Given the description of an element on the screen output the (x, y) to click on. 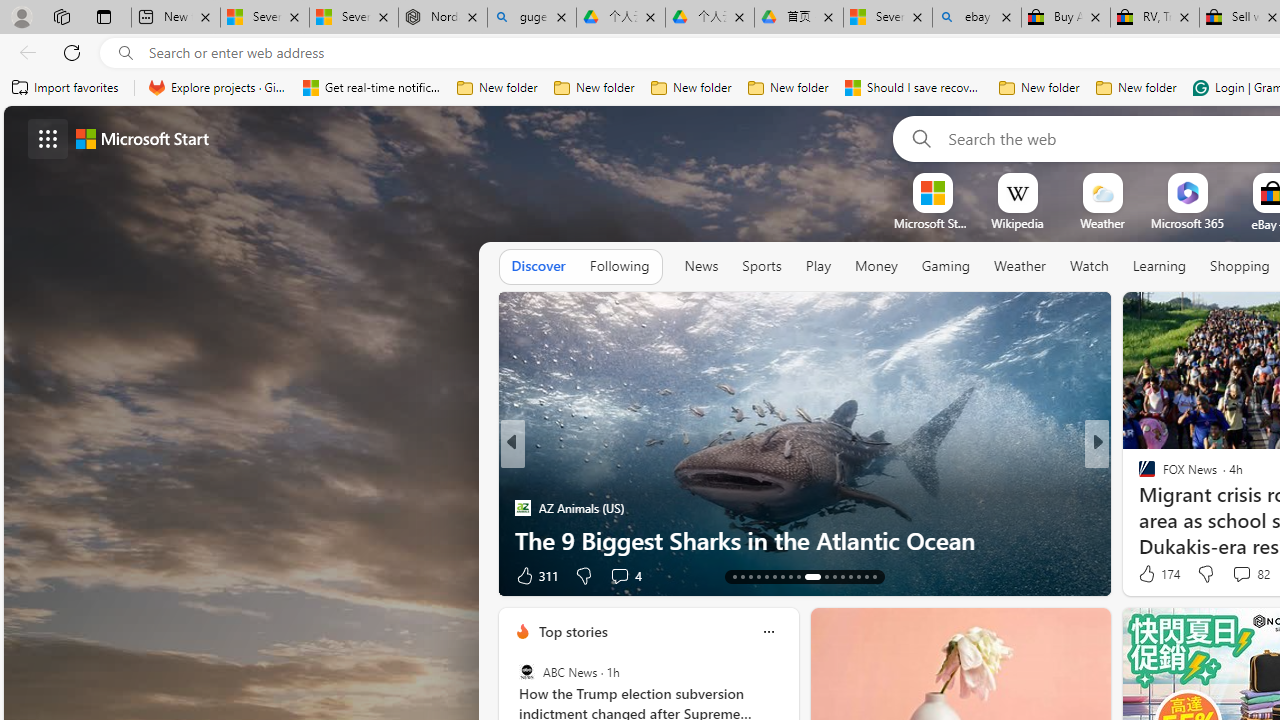
The Atlantic (1138, 507)
The 9 Biggest Sharks in the Atlantic Ocean (804, 539)
22 Like (1149, 574)
View comments 7 Comment (11, 575)
Money (876, 267)
Money (875, 265)
Weather (1020, 265)
New folder (1136, 88)
AutomationID: tab-17 (765, 576)
CNET (1138, 507)
CNN (1138, 475)
News (701, 267)
Watch (1089, 265)
